Given the description of an element on the screen output the (x, y) to click on. 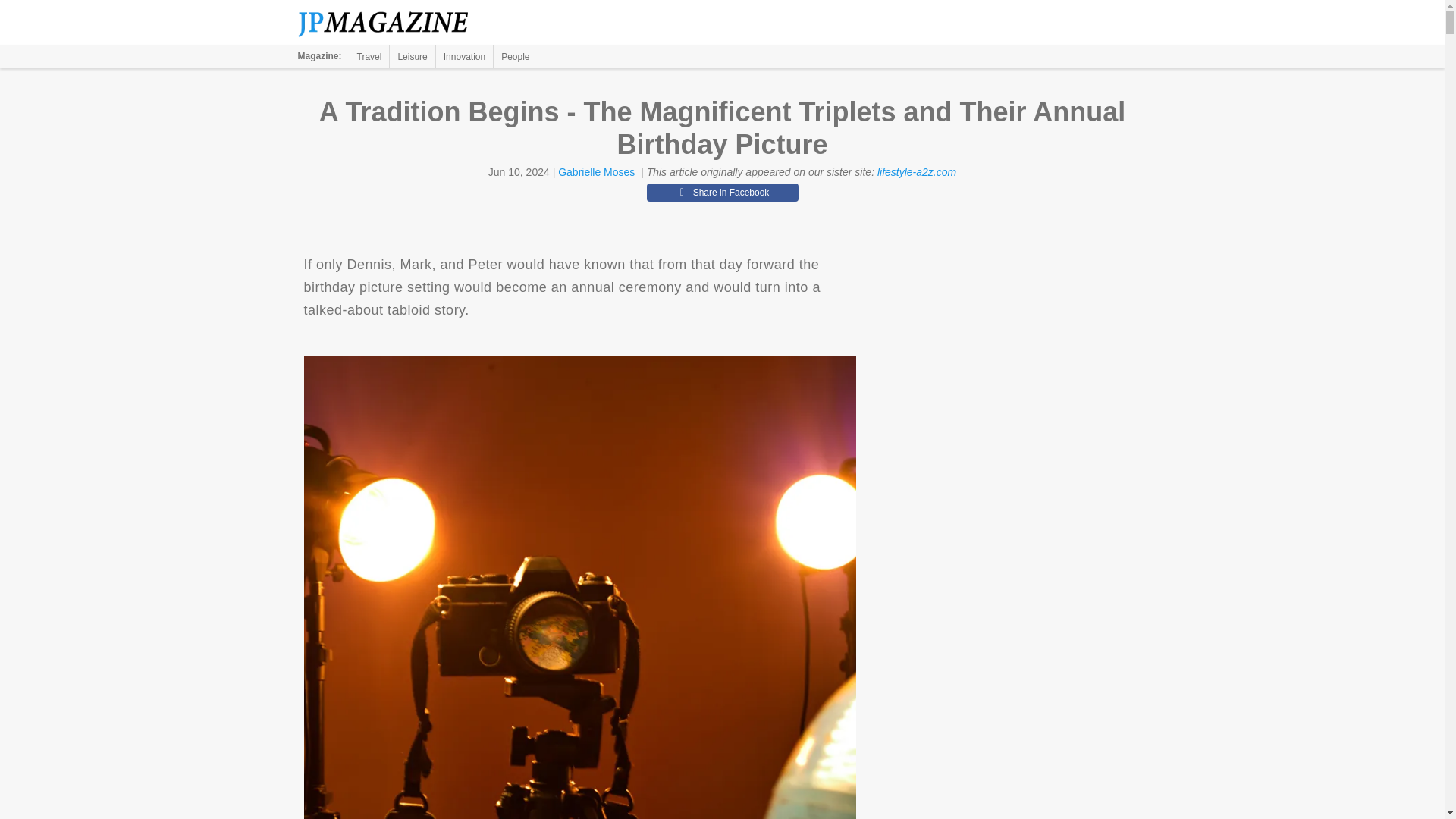
The Jerusalem Post Magazine (391, 22)
People (515, 56)
Share in Facebook (721, 192)
Travel (369, 56)
Innovation (464, 56)
Gabrielle Moses (595, 172)
lifestyle-a2z.com (916, 172)
Leisure (411, 56)
